Given the description of an element on the screen output the (x, y) to click on. 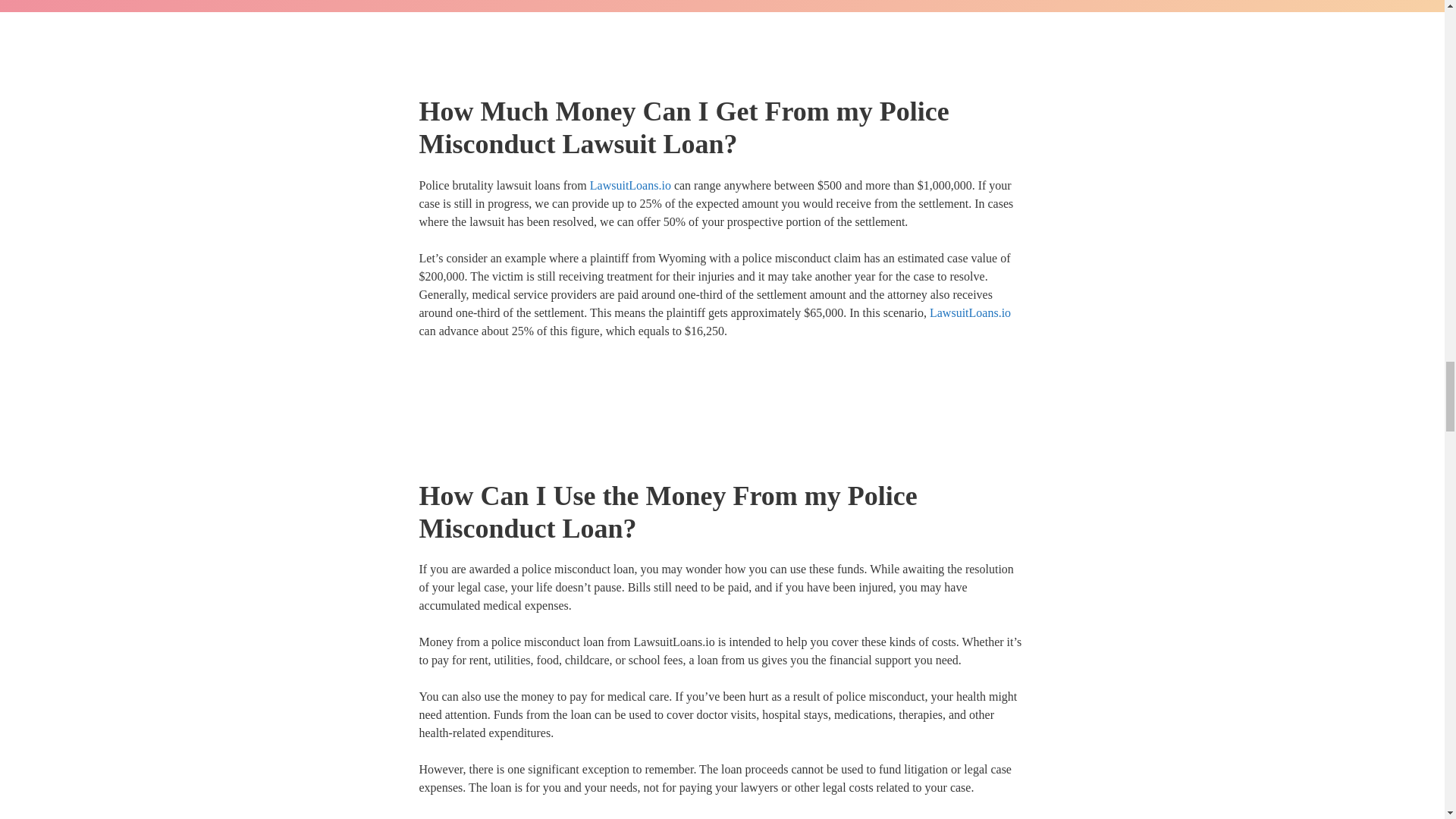
LawsuitLoans.io (970, 312)
LawsuitLoans.io (682, 818)
LawsuitLoans.io (630, 185)
